Given the description of an element on the screen output the (x, y) to click on. 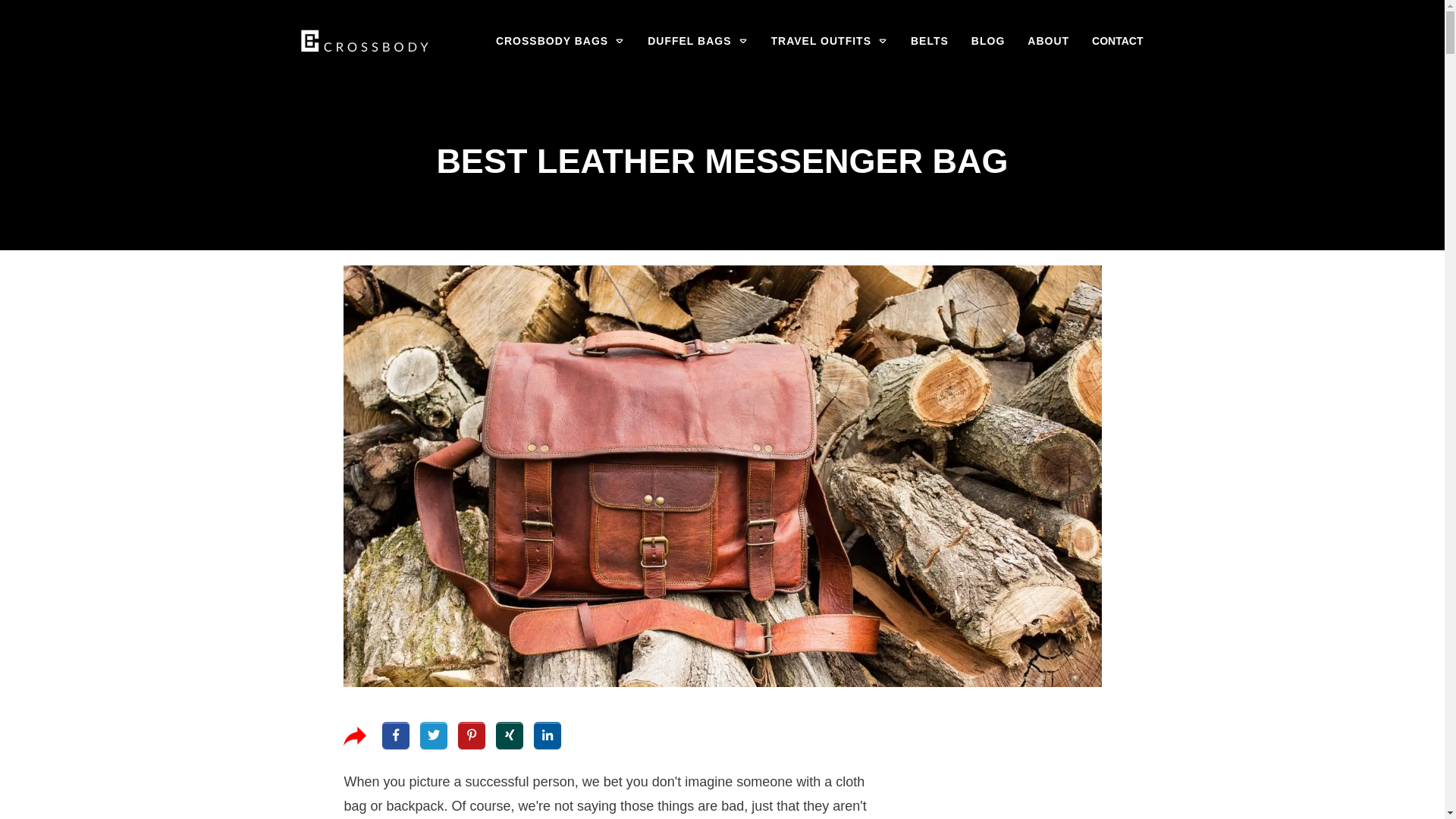
BLOG (987, 40)
ABOUT (1047, 40)
BELTS (930, 40)
DUFFEL BAGS (697, 40)
CONTACT (1117, 40)
TRAVEL OUTFITS (829, 40)
CROSSBODY BAGS (560, 40)
